Given the description of an element on the screen output the (x, y) to click on. 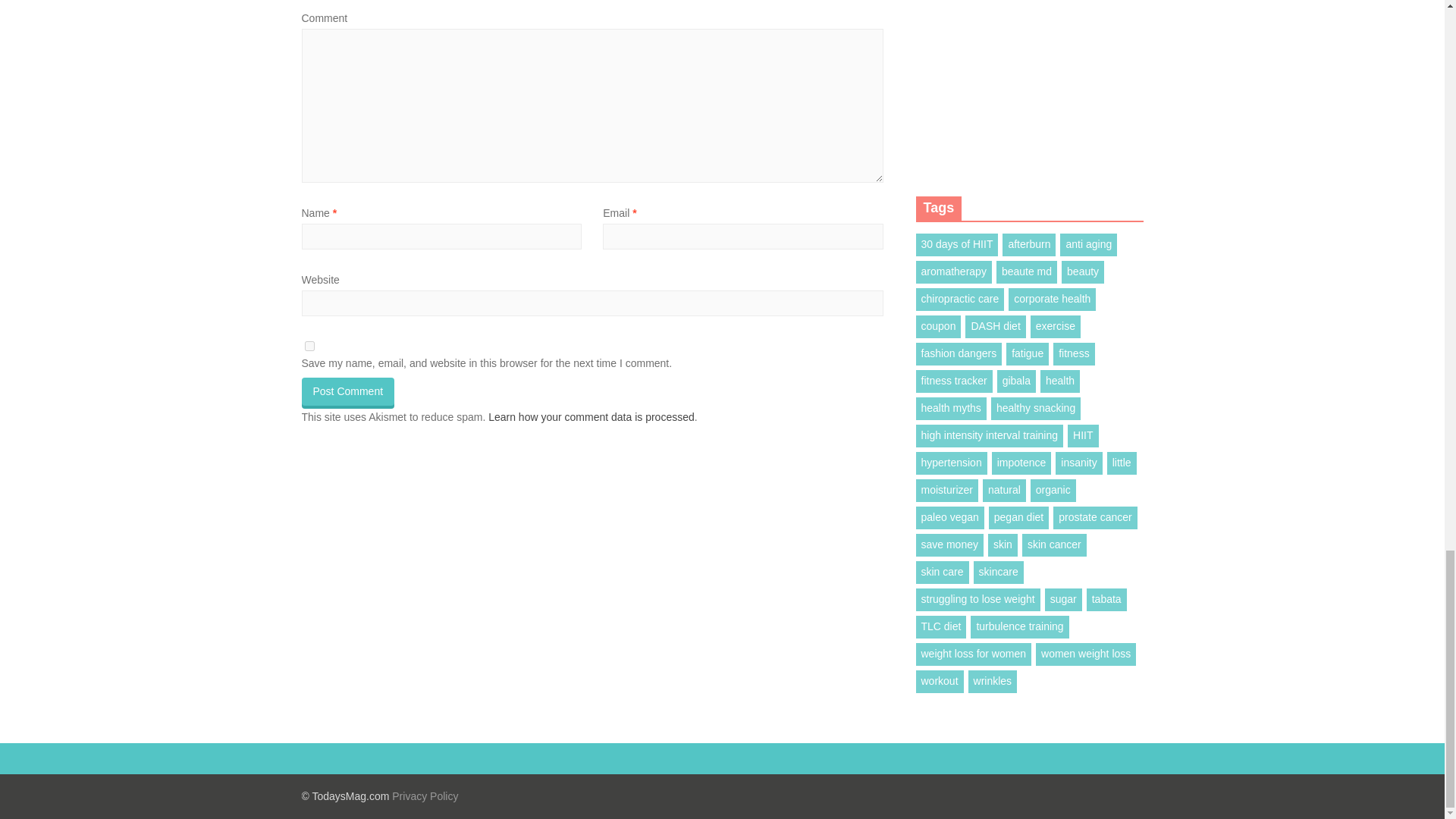
Post Comment (347, 391)
Learn how your comment data is processed (590, 417)
yes (309, 346)
Post Comment (347, 391)
